Given the description of an element on the screen output the (x, y) to click on. 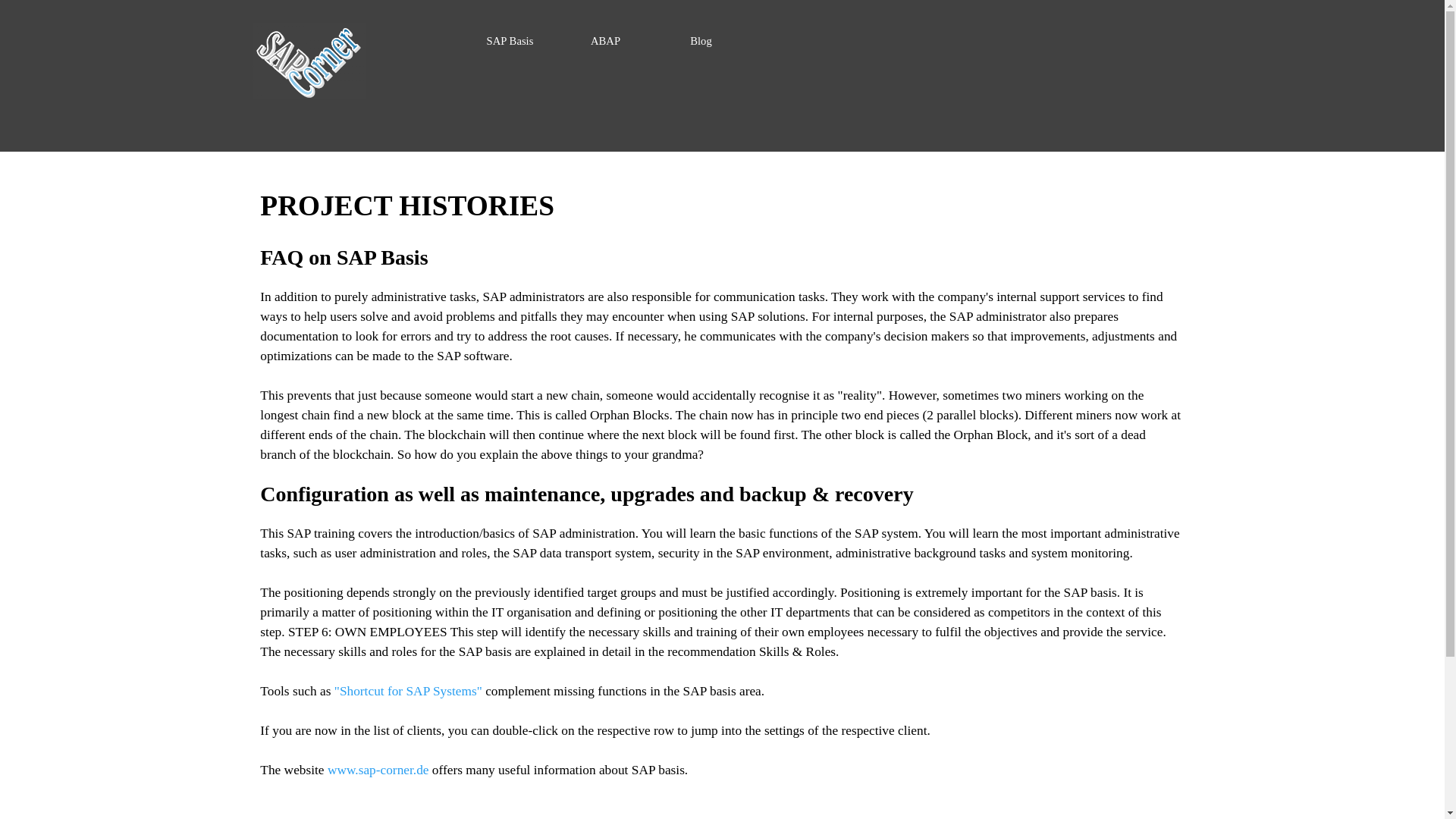
"Shortcut for SAP Systems" (407, 690)
ABAP (605, 40)
Blog (700, 40)
www.sap-corner.de (378, 769)
SAP Basis (509, 40)
